Given the description of an element on the screen output the (x, y) to click on. 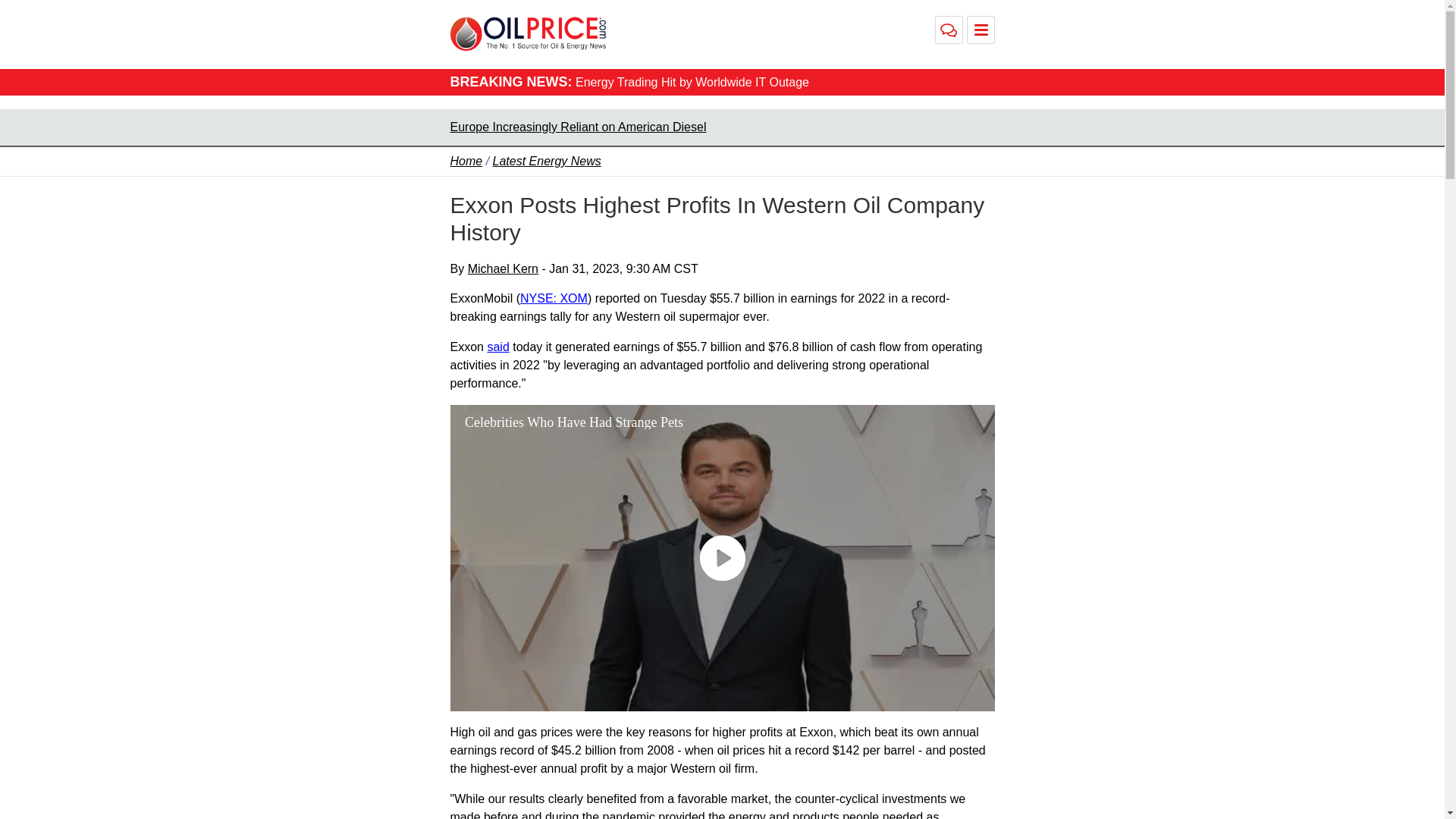
said (497, 346)
Michael Kern (502, 268)
Latest Energy News (547, 160)
Energy Trading Hit by Worldwide IT Outage (692, 82)
Home (466, 160)
NYSE: XOM (553, 297)
Europe Increasingly Reliant on American Diesel (577, 126)
